Given the description of an element on the screen output the (x, y) to click on. 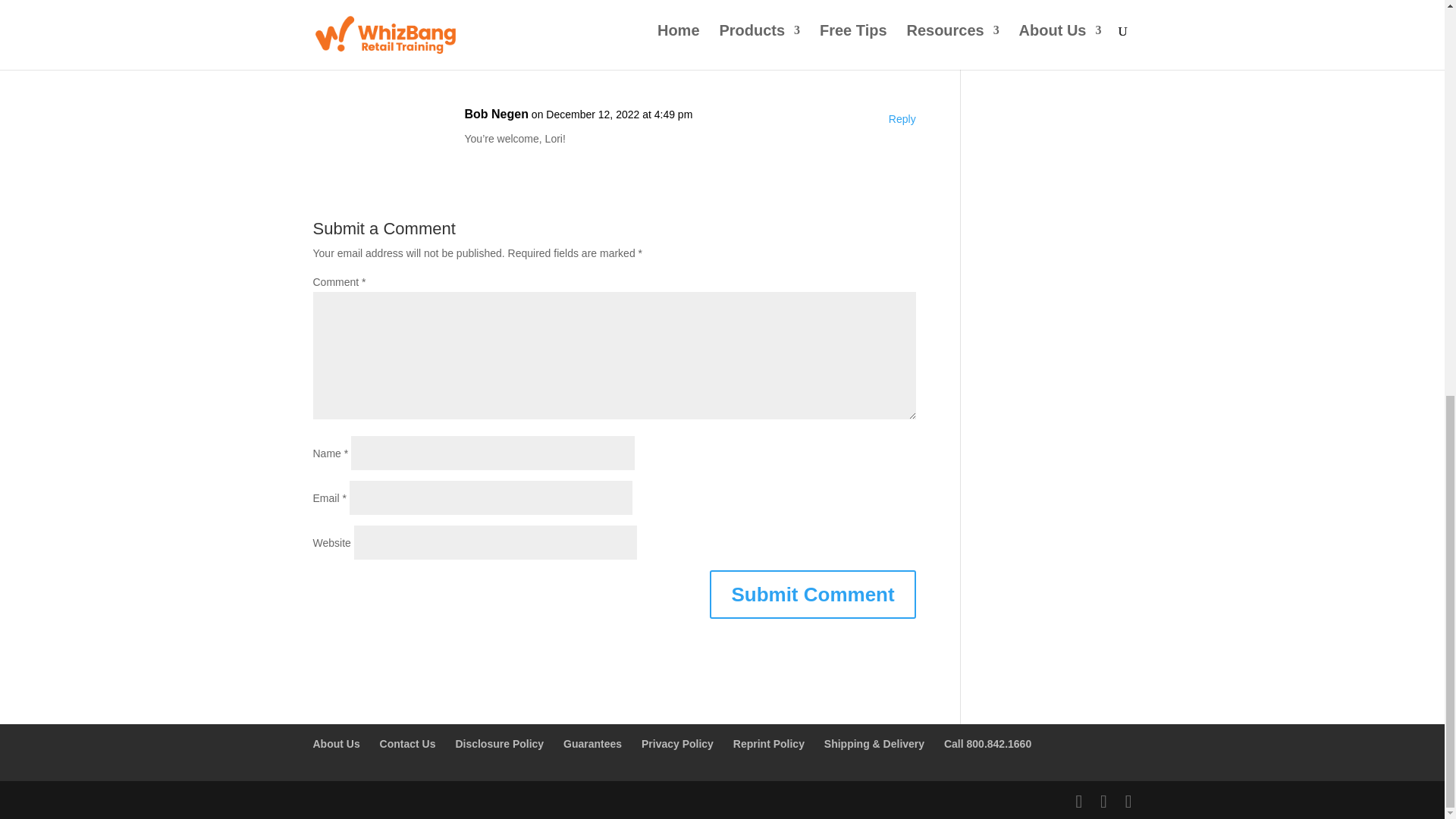
Contact Us (407, 743)
Submit Comment (812, 594)
About Us (336, 743)
Reply (901, 17)
Reply (901, 119)
Guarantees (592, 743)
Search (1106, 13)
Disclosure Policy (498, 743)
Call 800.842.1660 (986, 743)
Privacy Policy (677, 743)
Reprint Policy (769, 743)
Search (1106, 13)
Submit Comment (812, 594)
